Given the description of an element on the screen output the (x, y) to click on. 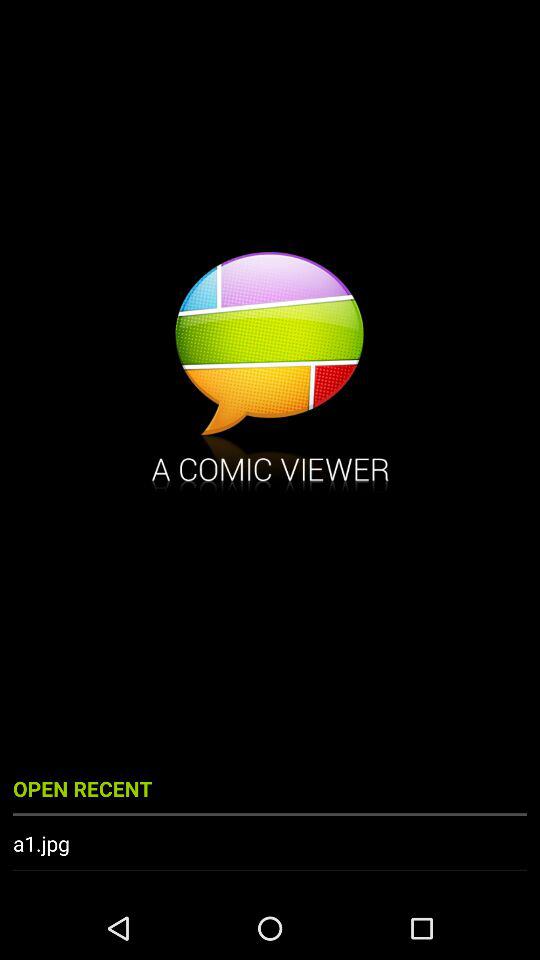
flip until a1.jpg item (269, 843)
